Given the description of an element on the screen output the (x, y) to click on. 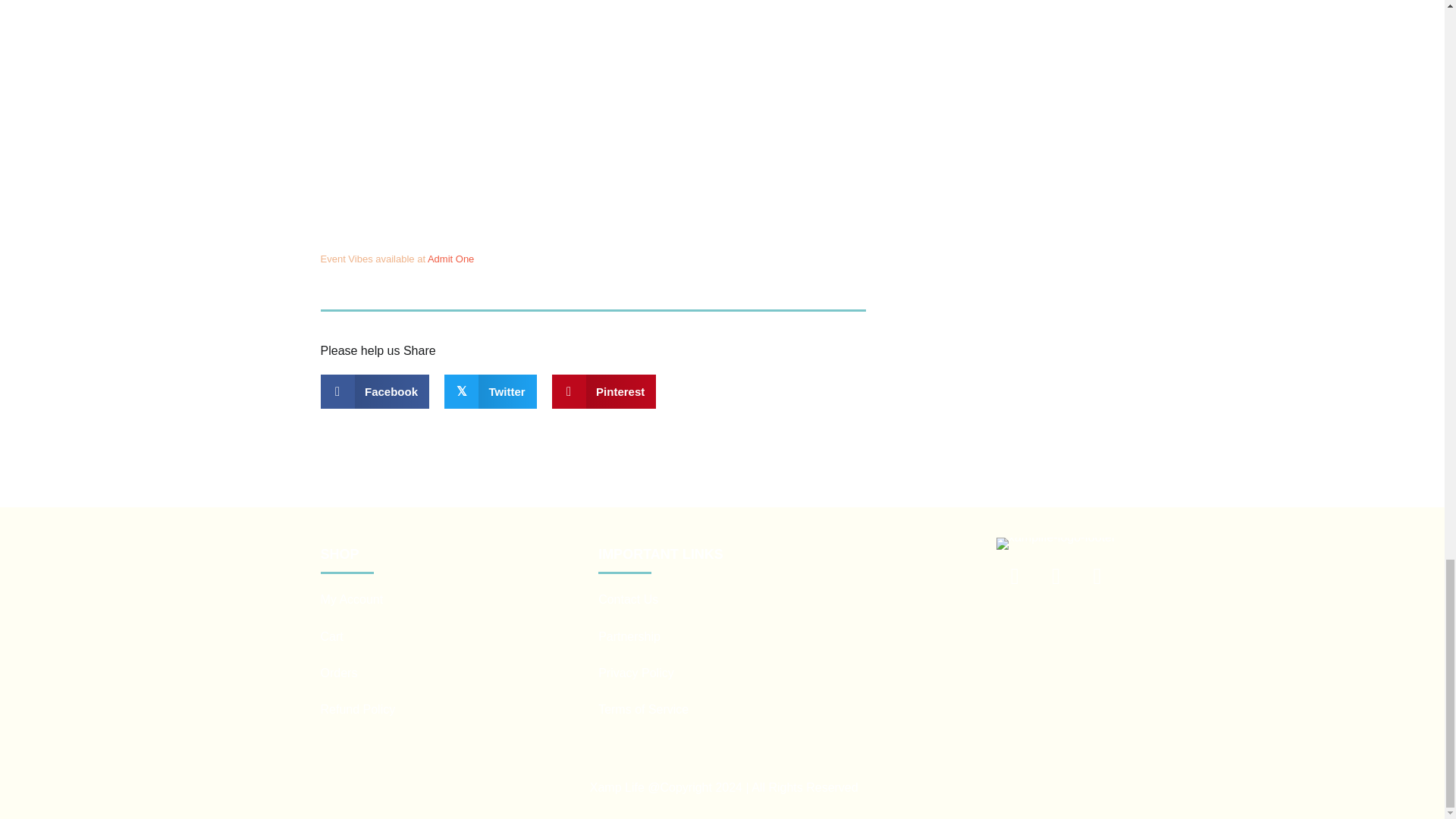
Facebook (1056, 576)
Pinterest (603, 391)
Facebook (374, 391)
xamplife-logo-footer (1055, 543)
Twitter (1097, 576)
Instagram (1014, 576)
Admit One (451, 258)
